Given the description of an element on the screen output the (x, y) to click on. 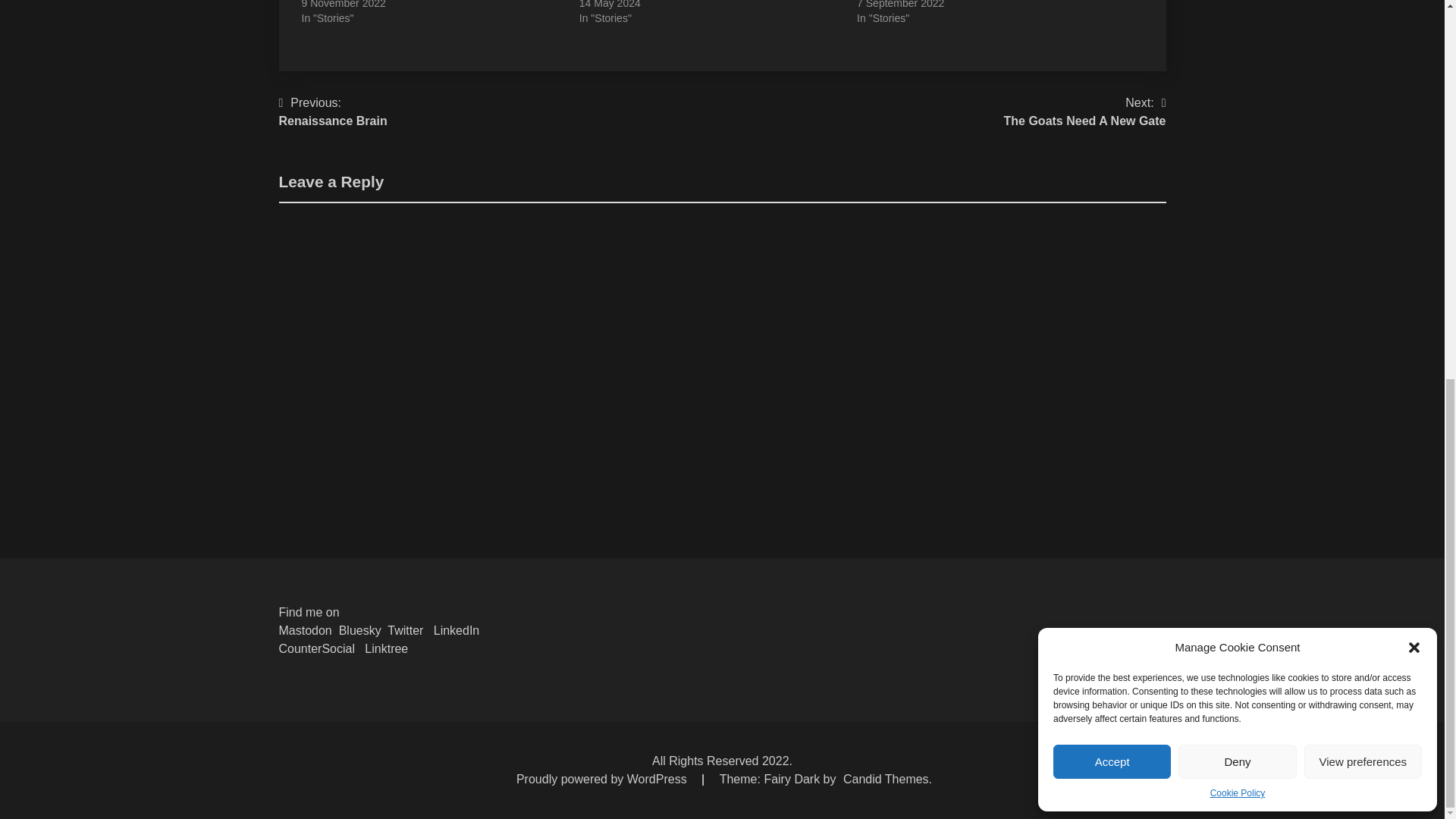
Cookie Policy (1237, 89)
Deny (1236, 57)
View preferences (1363, 57)
Accept (1111, 57)
